Given the description of an element on the screen output the (x, y) to click on. 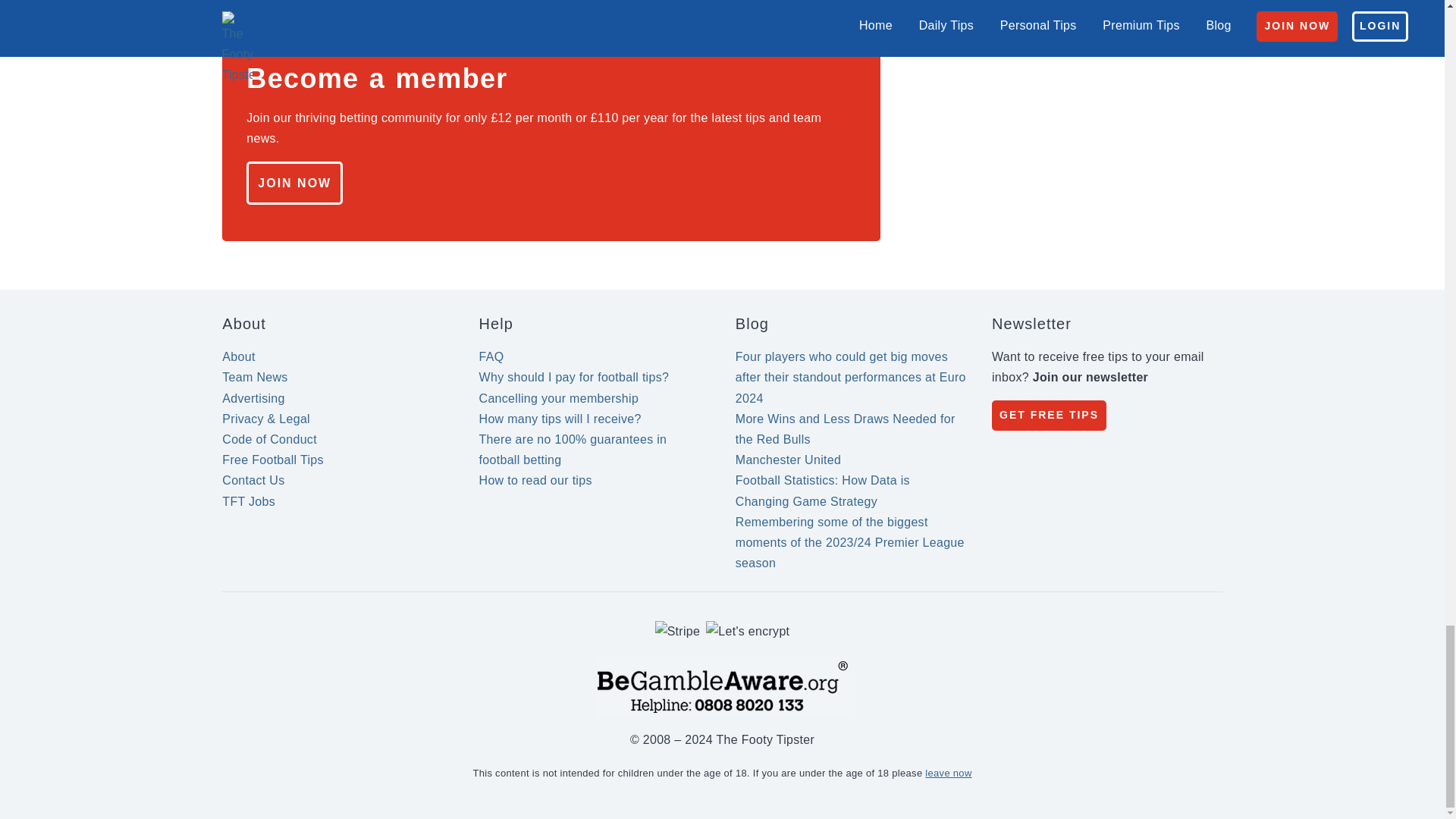
Cancelling your membership (559, 398)
Advertising (252, 398)
Contact Us (252, 480)
Free Football Tips (272, 459)
FAQ (491, 356)
TFT Jobs (248, 501)
JOIN NOW (294, 182)
Team News (254, 377)
Why should I pay for football tips? (574, 377)
Code of Conduct (269, 439)
